Given the description of an element on the screen output the (x, y) to click on. 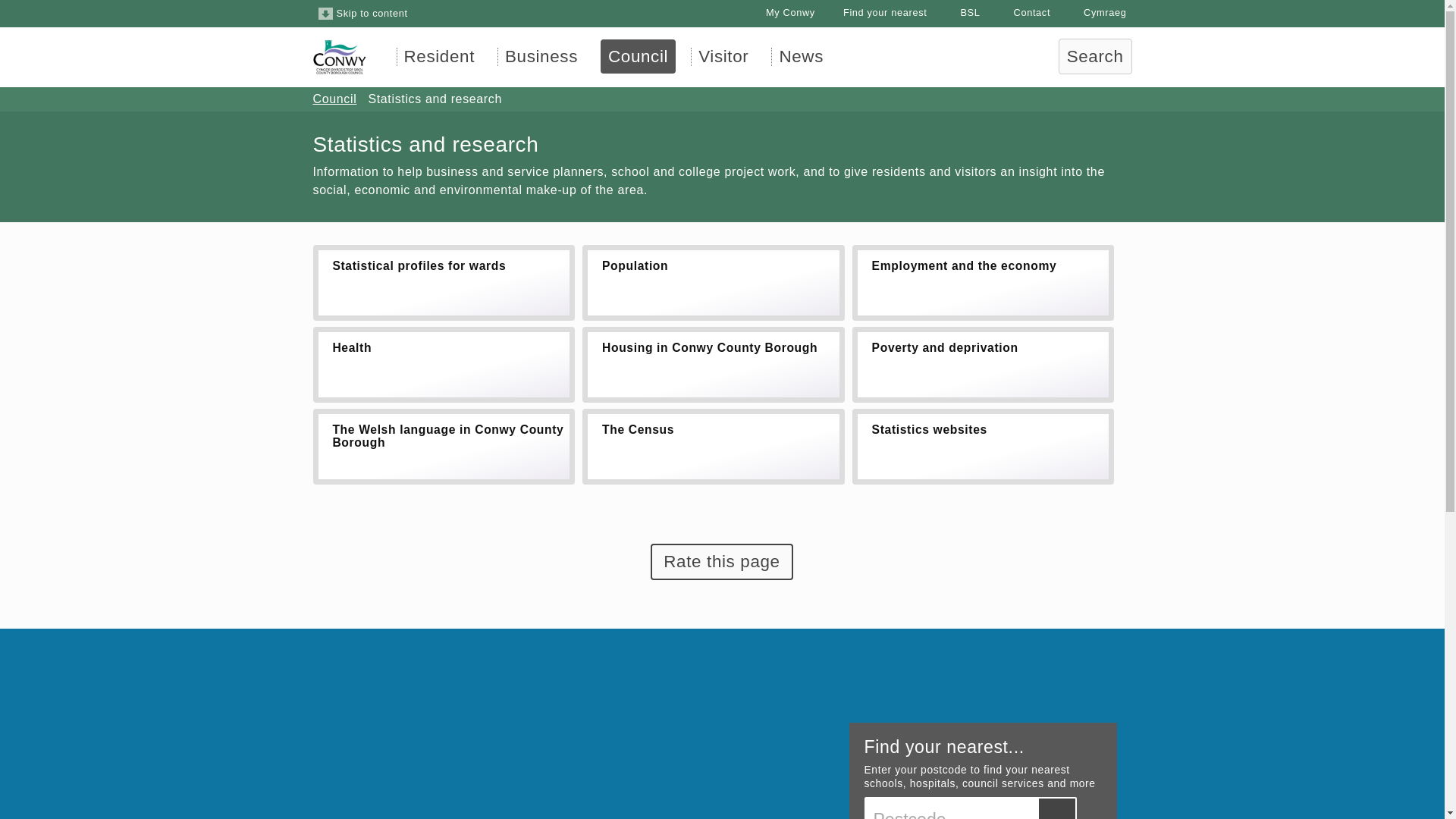
Go to Council from here (334, 98)
Housing in Conwy County Borough (713, 364)
BSL (960, 11)
Find your nearest (875, 11)
Population (713, 282)
Find your nearest (875, 11)
Skip to content (362, 13)
Go to News from here (801, 56)
Housing in Conwy County Borough (713, 364)
Business (541, 56)
Statistical profiles for wards (444, 282)
Go to Council from here (637, 56)
BSL (960, 11)
Employment and the economy (983, 282)
The Census (713, 446)
